Given the description of an element on the screen output the (x, y) to click on. 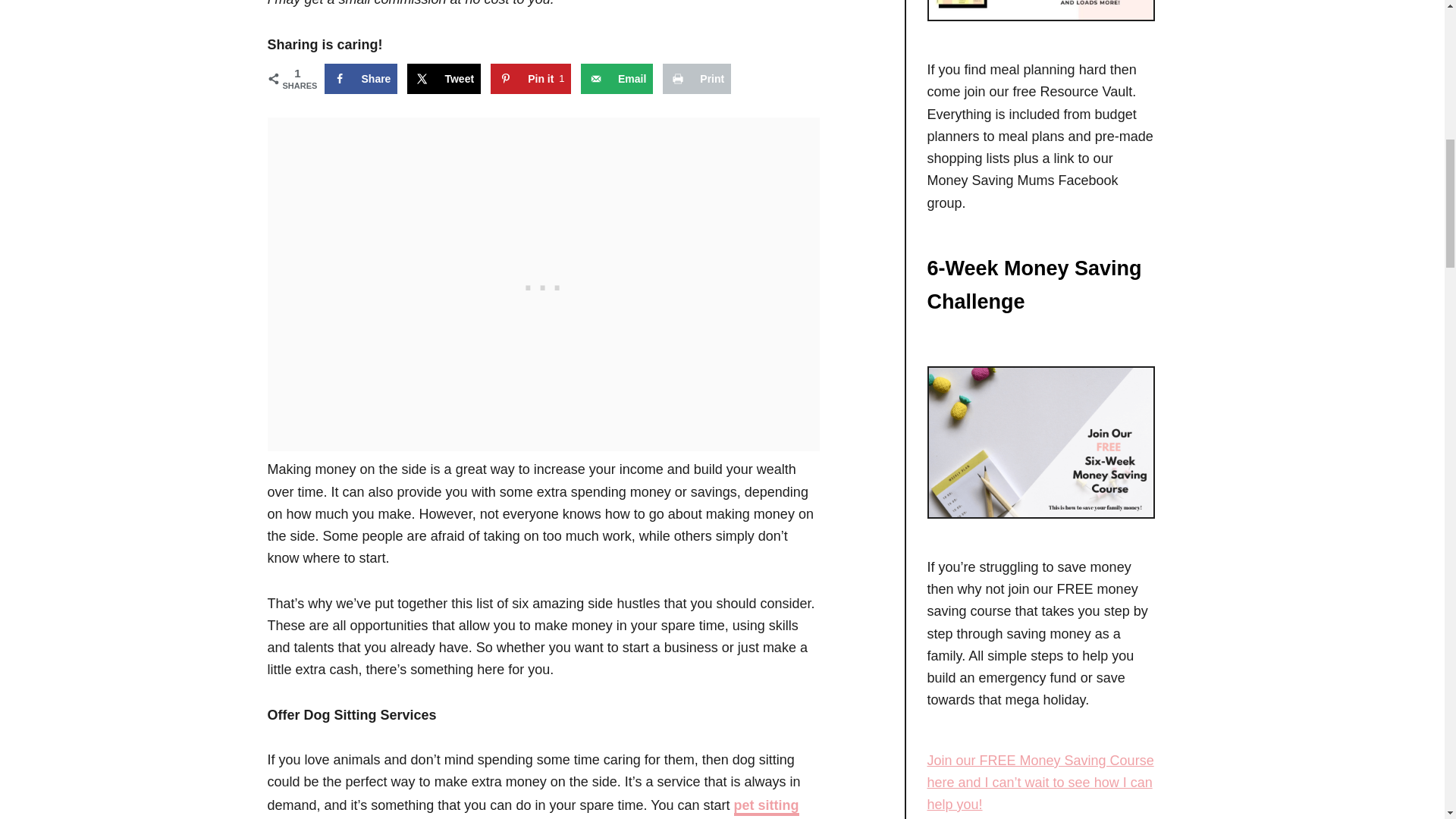
Share on X (443, 78)
Tweet (443, 78)
Print (696, 78)
pet sitting (766, 806)
Share on Facebook (530, 78)
Send over email (360, 78)
Print this webpage (616, 78)
Email (696, 78)
Share (616, 78)
Save to Pinterest (360, 78)
